Given the description of an element on the screen output the (x, y) to click on. 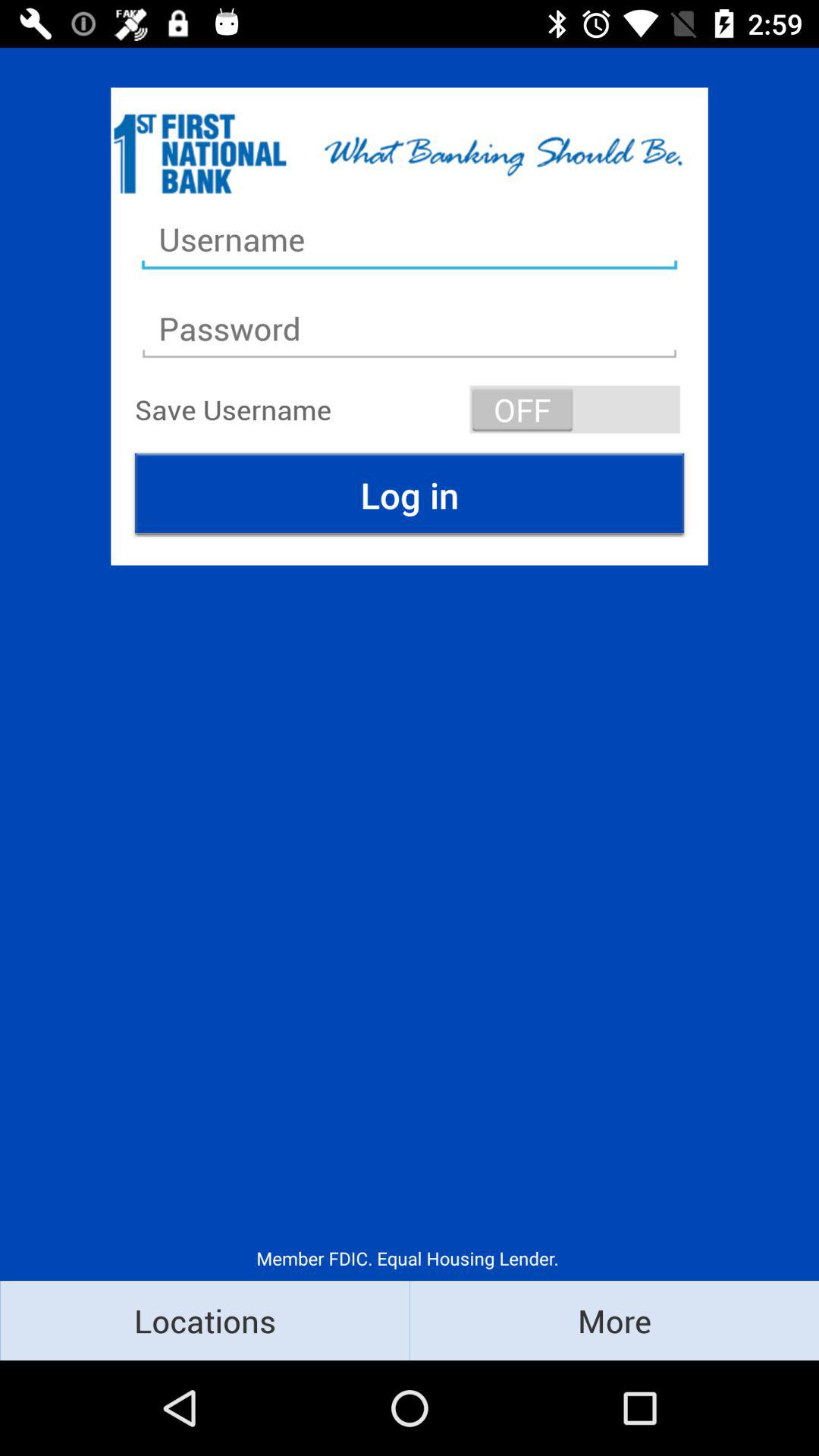
press the more icon (614, 1320)
